Given the description of an element on the screen output the (x, y) to click on. 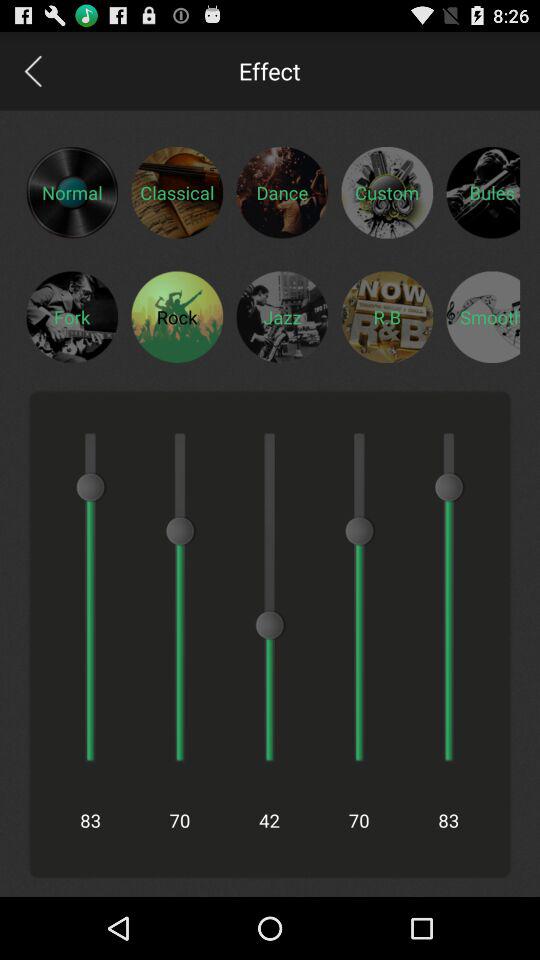
select dance effect (282, 191)
